Given the description of an element on the screen output the (x, y) to click on. 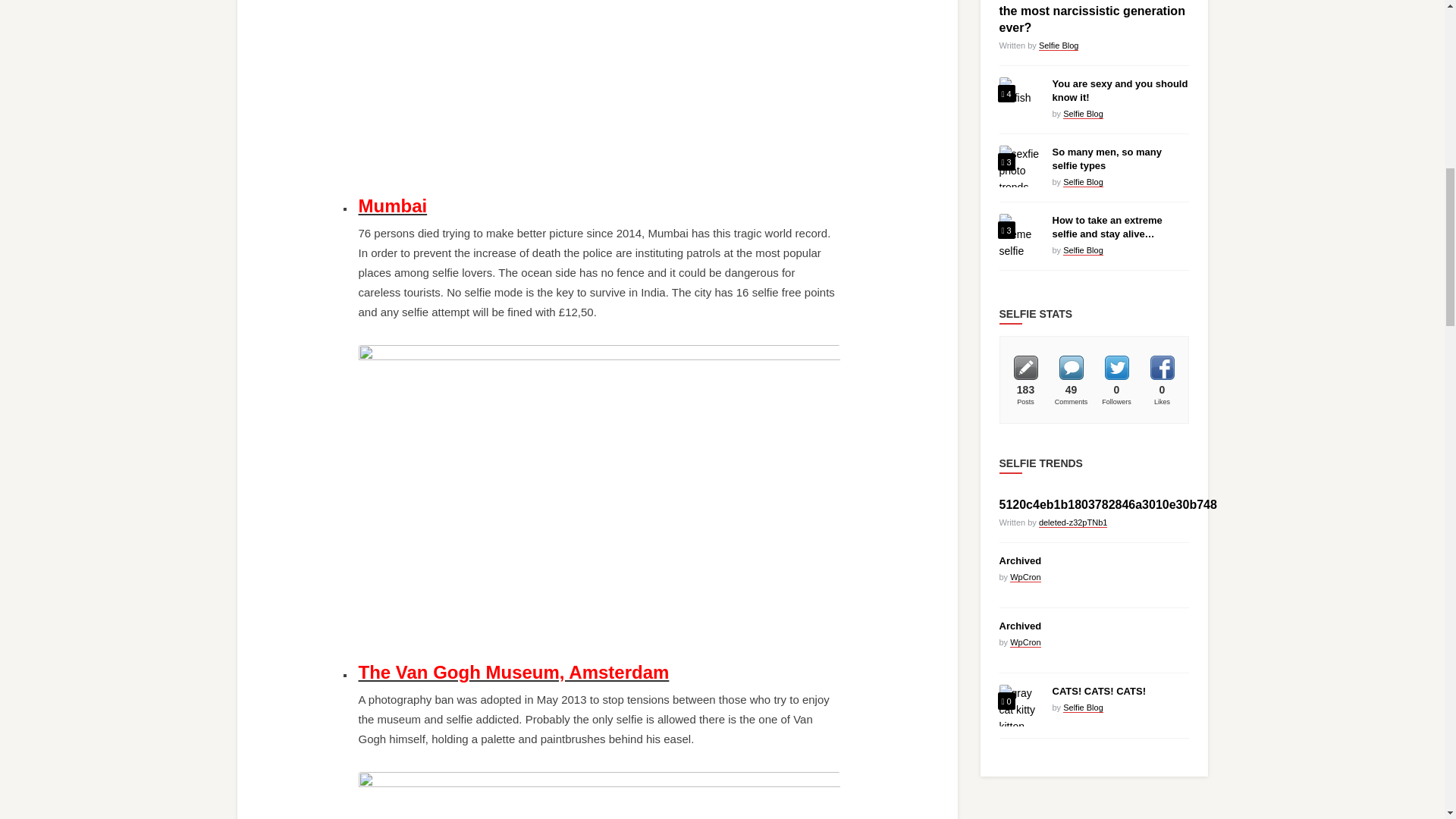
Posts by Selfie Blog (1058, 45)
Posts by Selfie Blog (1082, 250)
Posts by deleted-z32pTNb1 (1073, 522)
Posts by Selfie Blog (1082, 182)
Posts by Selfie Blog (1082, 113)
